Given the description of an element on the screen output the (x, y) to click on. 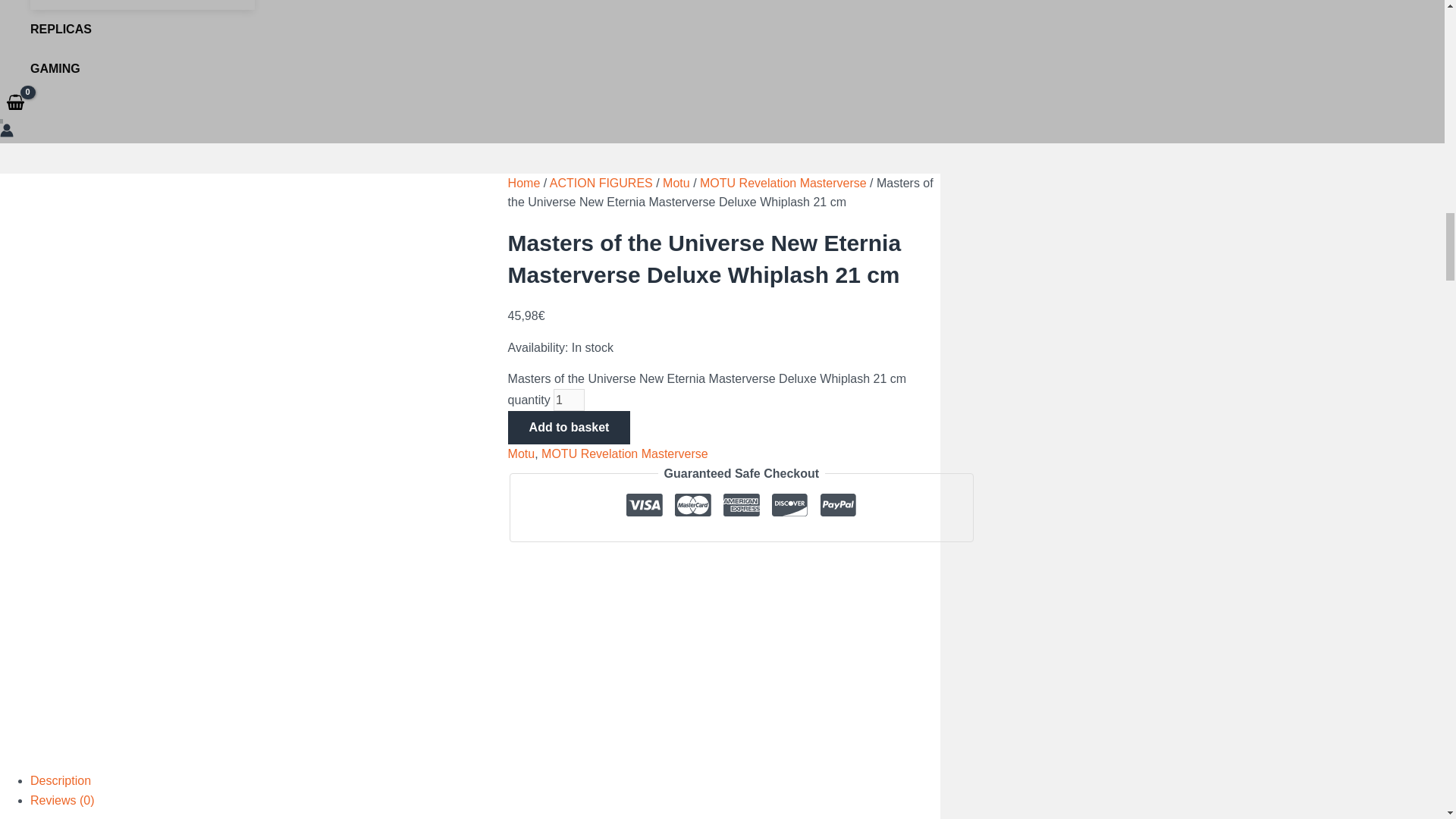
1 (569, 400)
